Given the description of an element on the screen output the (x, y) to click on. 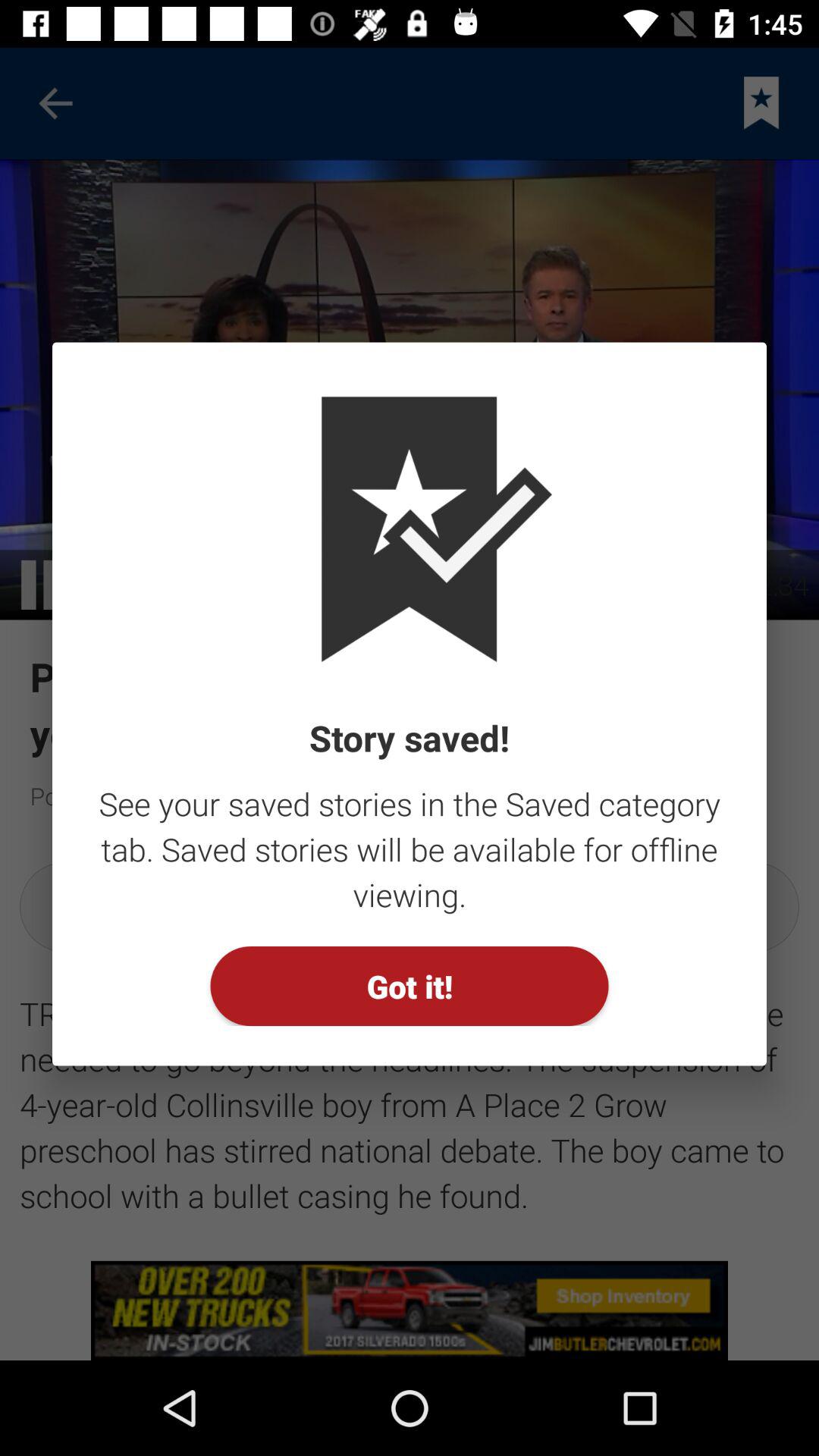
choose the got it! item (409, 986)
